Given the description of an element on the screen output the (x, y) to click on. 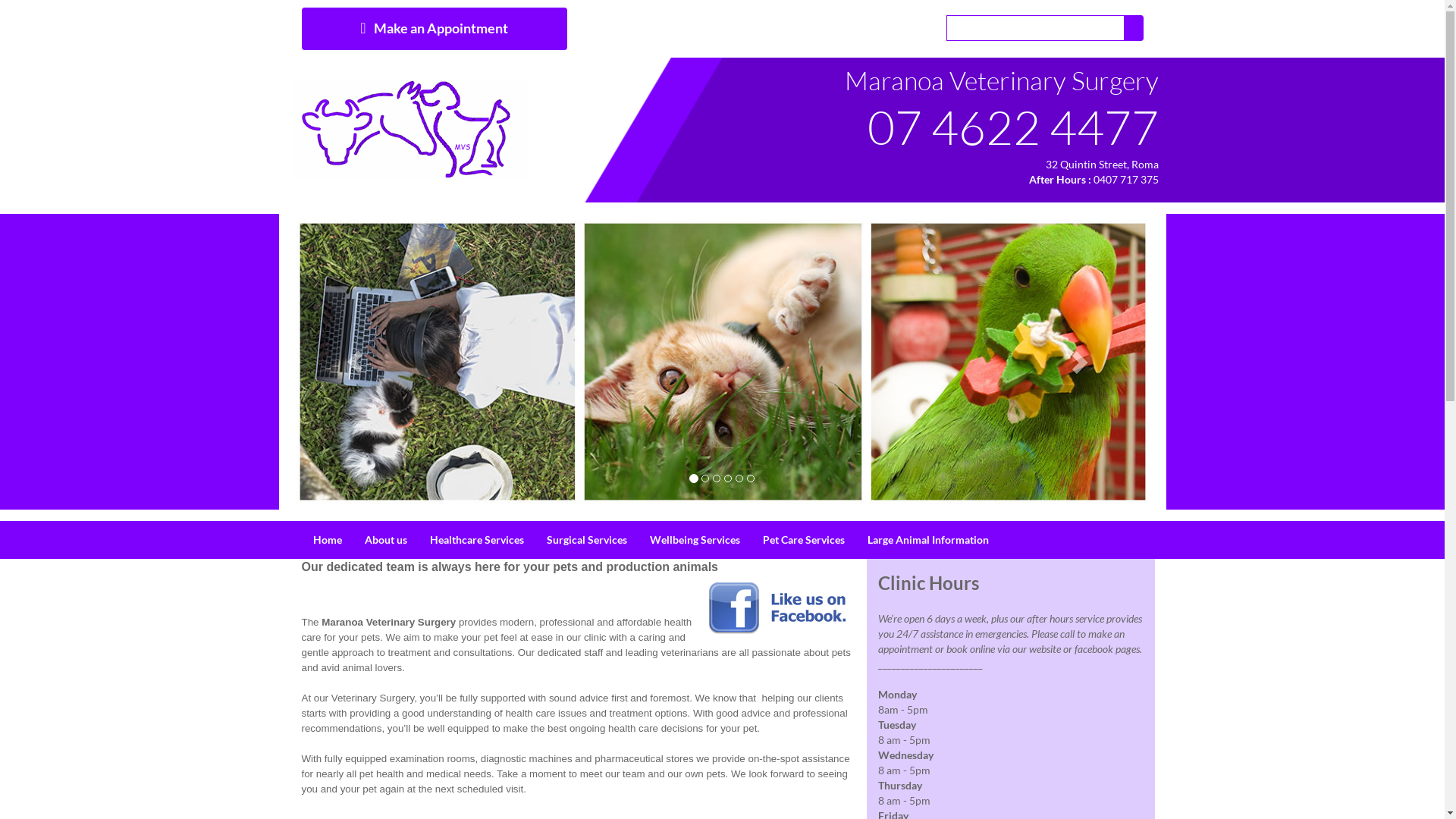
Surgical Services Element type: text (586, 539)
Pet Care Services Element type: text (802, 539)
0407 717 375 Element type: text (1125, 178)
Healthcare Services Element type: text (476, 539)
Wellbeing Services Element type: text (694, 539)
About us Element type: text (385, 539)
07 4622 4477 Element type: text (1012, 126)
Home Element type: text (327, 539)
Large Animal Information Element type: text (927, 539)
Make an Appointment Element type: text (434, 28)
